Given the description of an element on the screen output the (x, y) to click on. 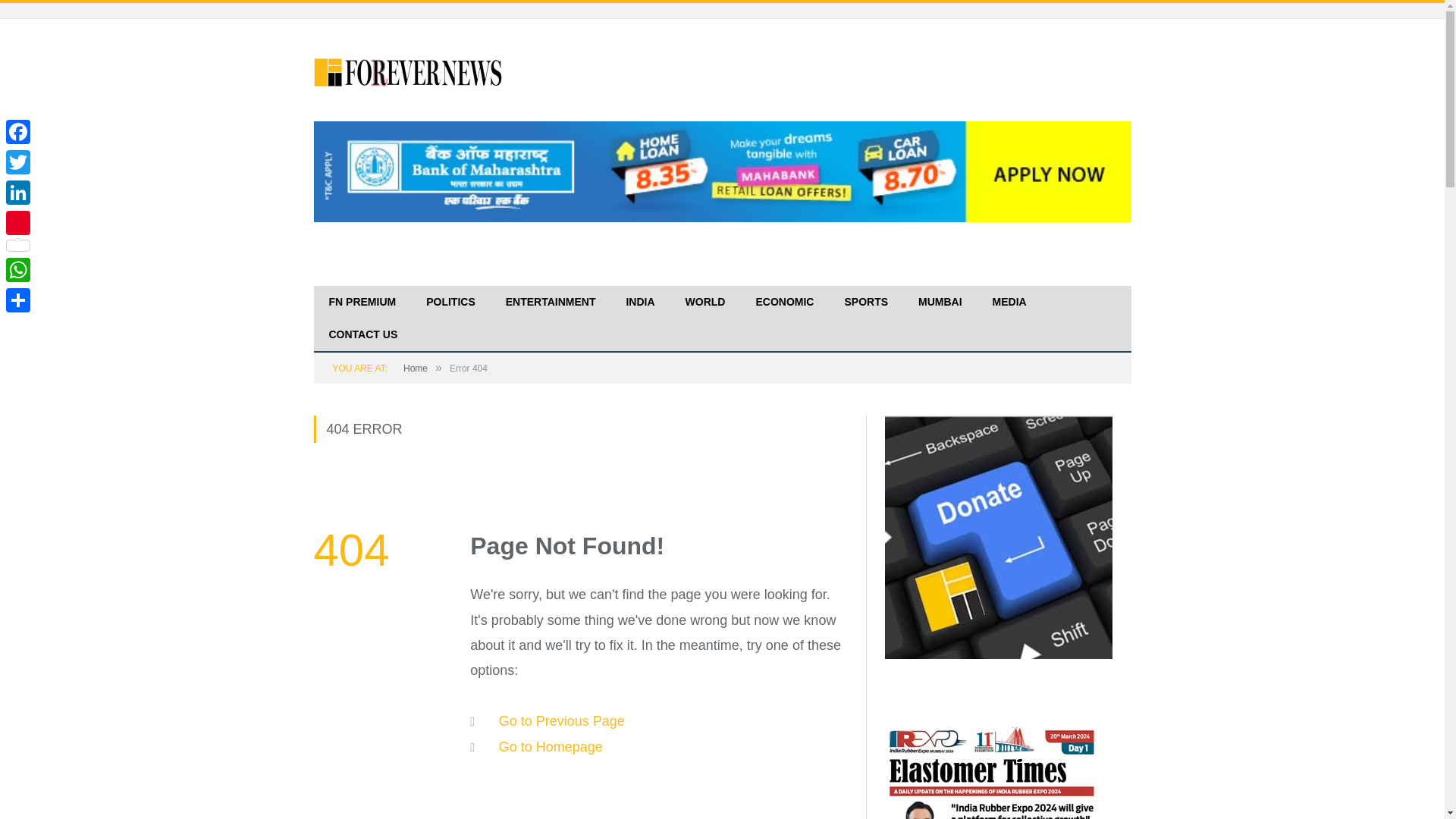
SPORTS (865, 302)
CONTACT US (363, 335)
ENTERTAINMENT (550, 302)
Go to Homepage (550, 746)
Home (415, 368)
POLITICS (450, 302)
Forever NEWS (408, 69)
Go to Previous Page (561, 720)
WORLD (705, 302)
MEDIA (1009, 302)
